Given the description of an element on the screen output the (x, y) to click on. 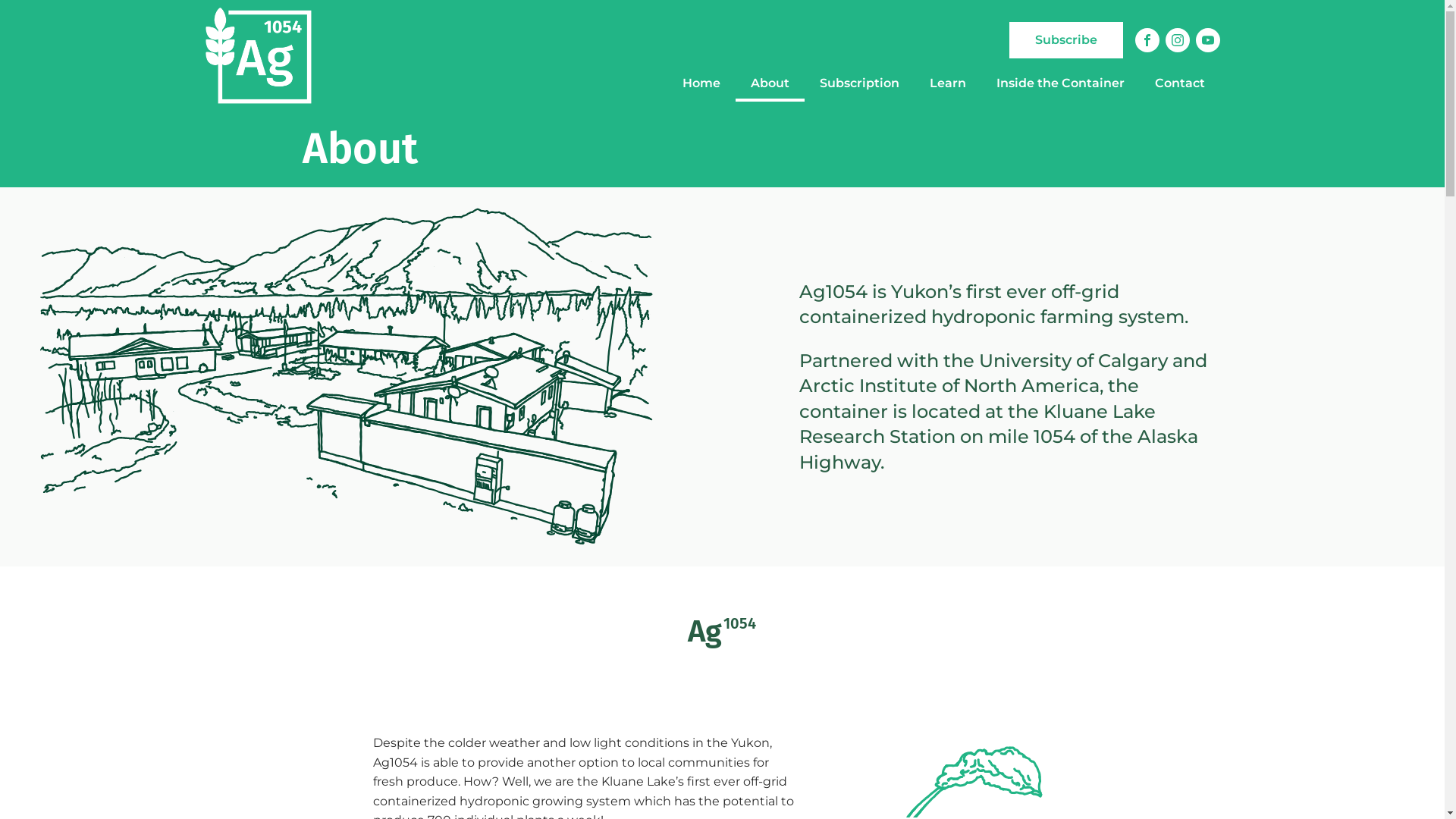
Inside the Container Element type: text (1060, 83)
Subscribe Element type: text (1065, 39)
Home Element type: text (701, 83)
Learn Element type: text (947, 83)
Subscription Element type: text (858, 83)
Contact Element type: text (1179, 83)
About Element type: text (769, 83)
